Given the description of an element on the screen output the (x, y) to click on. 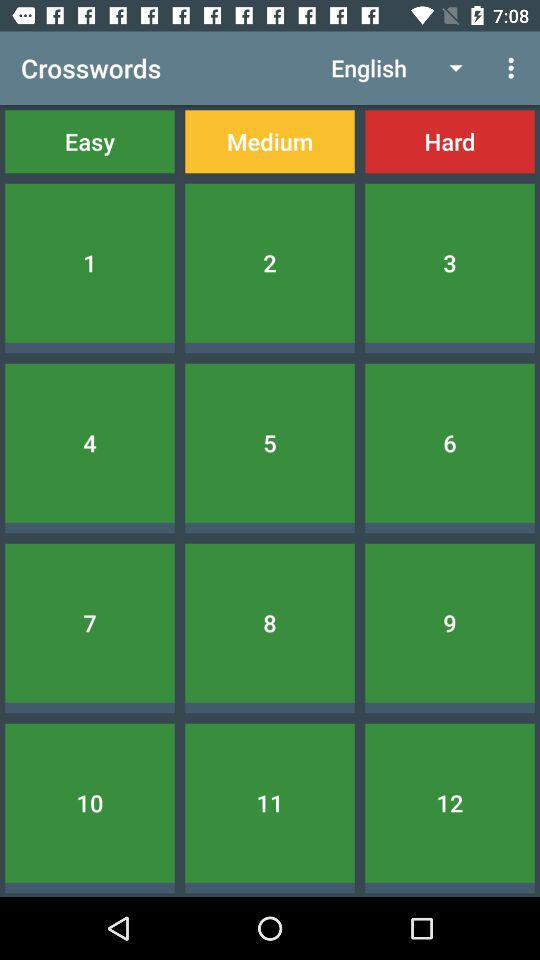
scroll to 12 icon (449, 802)
